Given the description of an element on the screen output the (x, y) to click on. 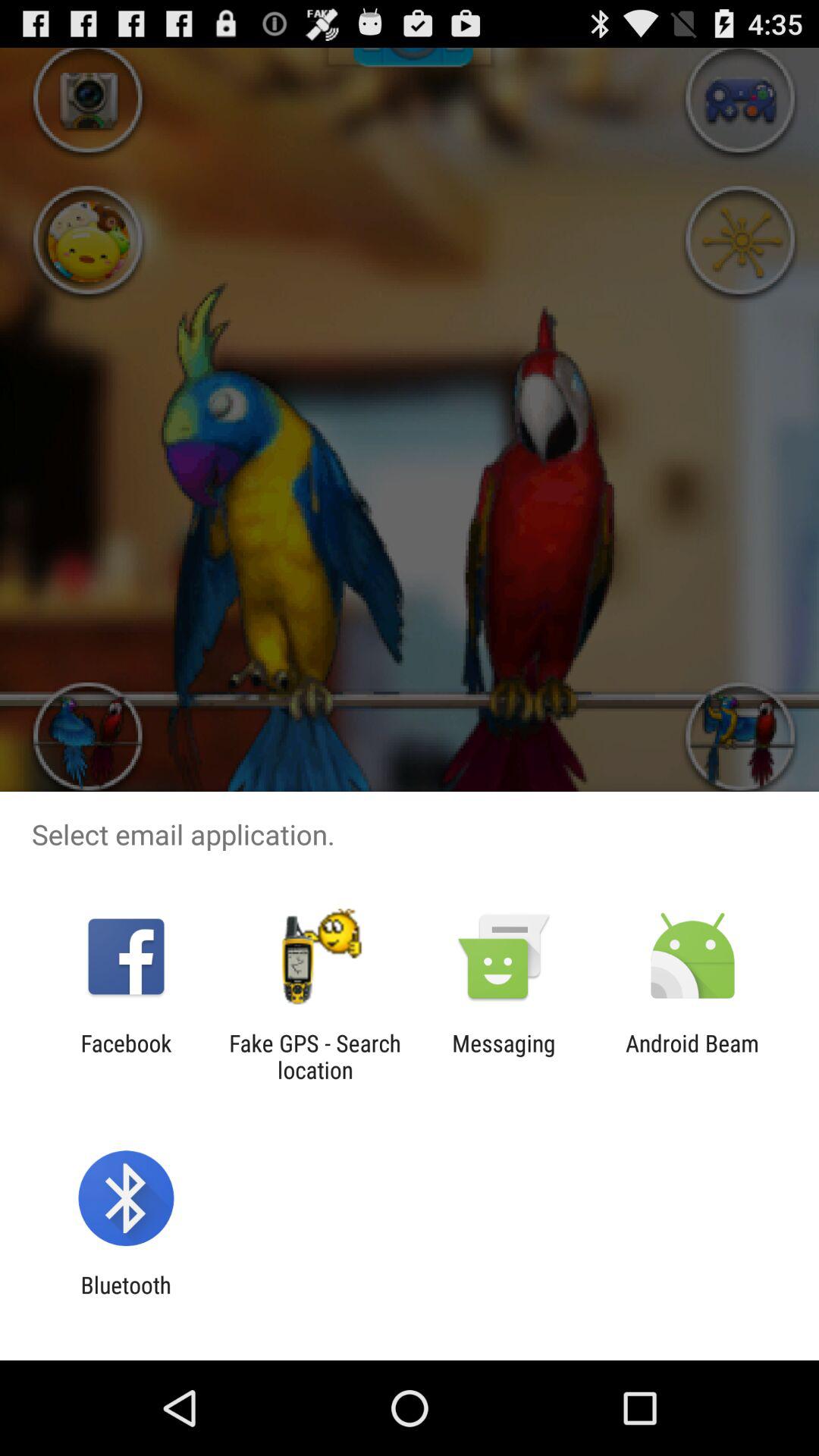
swipe until the bluetooth item (125, 1298)
